Given the description of an element on the screen output the (x, y) to click on. 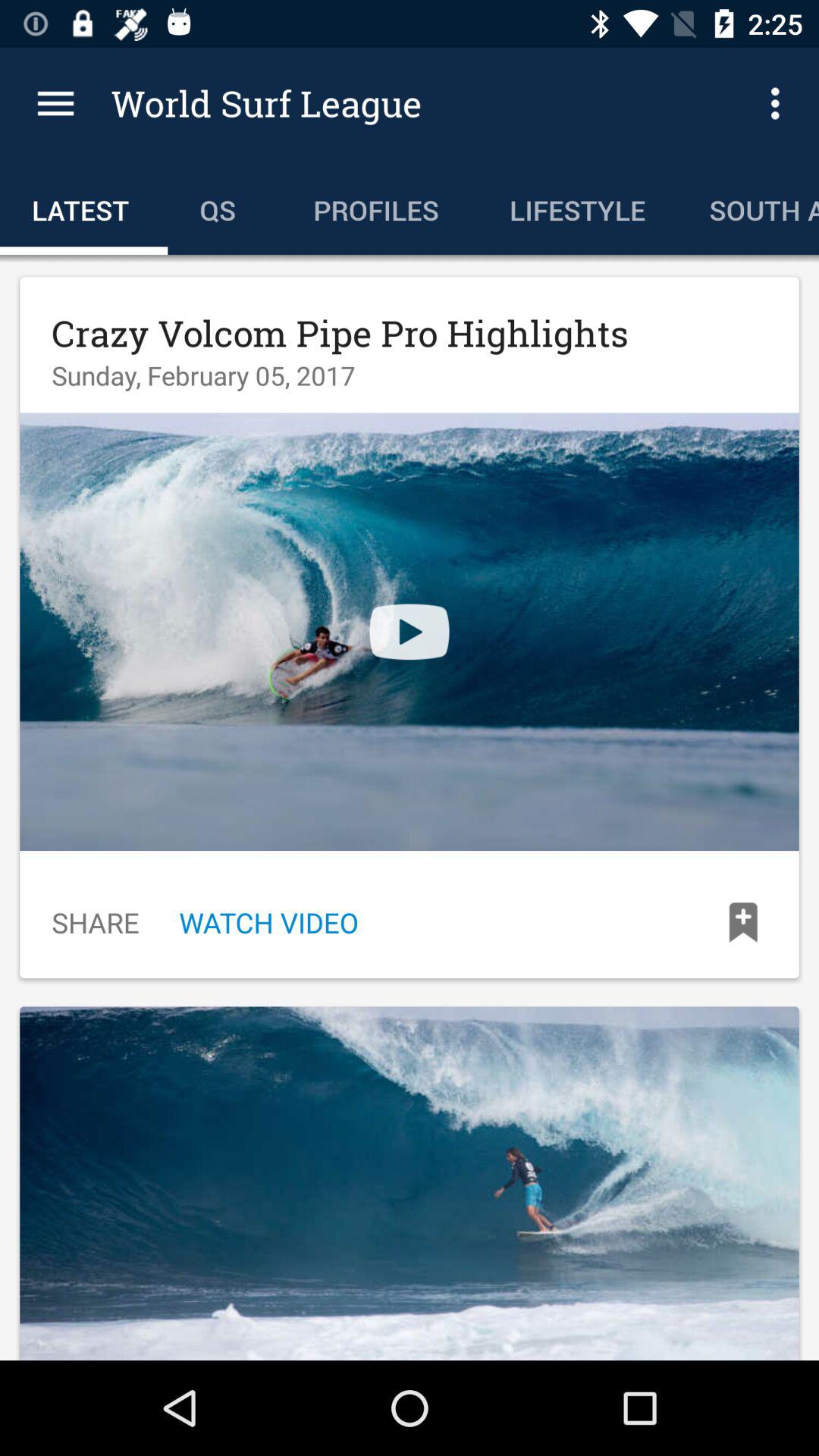
tap item to the left of world surf league (55, 103)
